Given the description of an element on the screen output the (x, y) to click on. 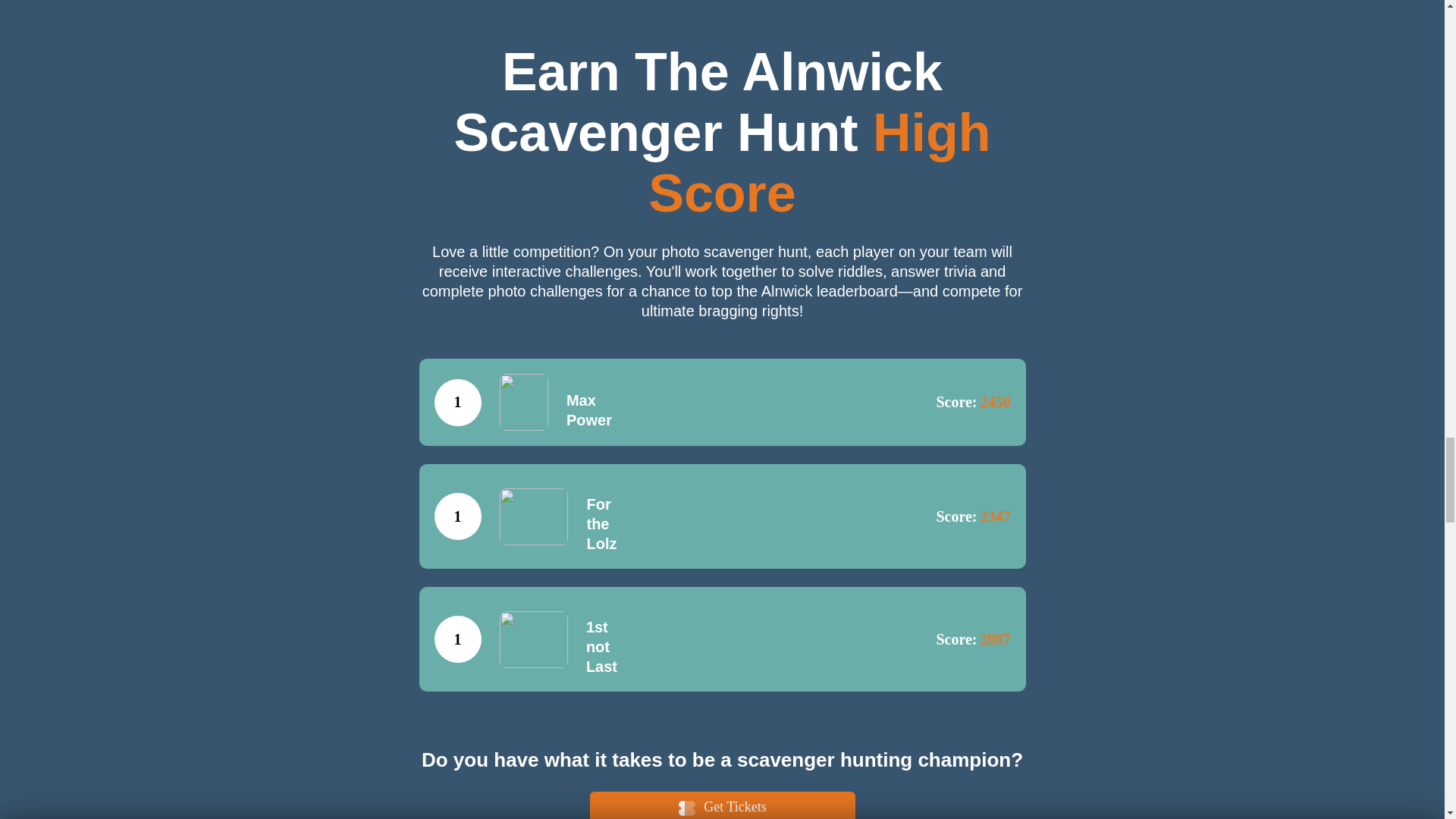
Get Tickets (722, 805)
